Given the description of an element on the screen output the (x, y) to click on. 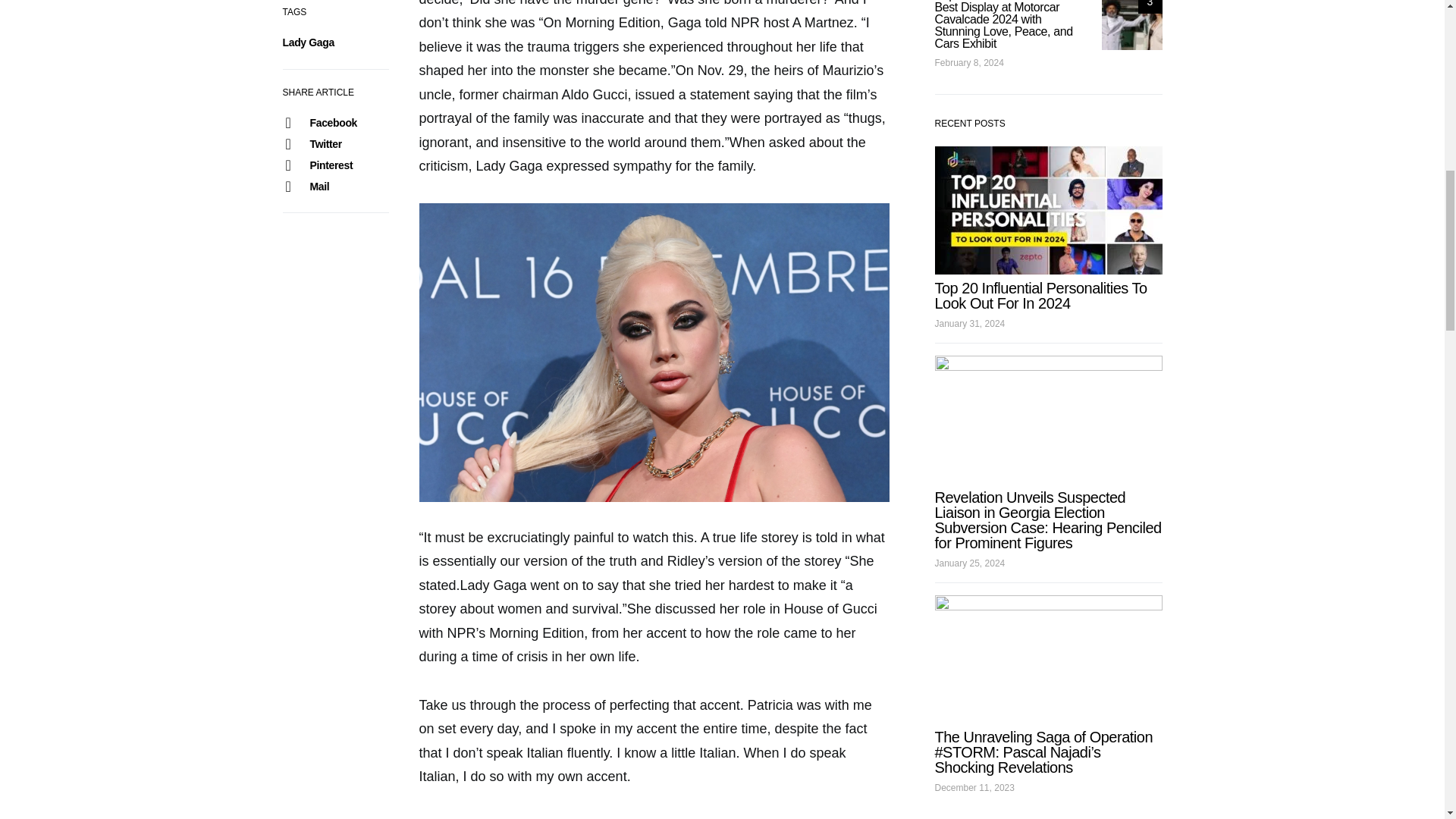
Twitter (335, 143)
Pinterest (335, 165)
Facebook (335, 122)
Mail (335, 186)
Lady Gaga (307, 42)
